Given the description of an element on the screen output the (x, y) to click on. 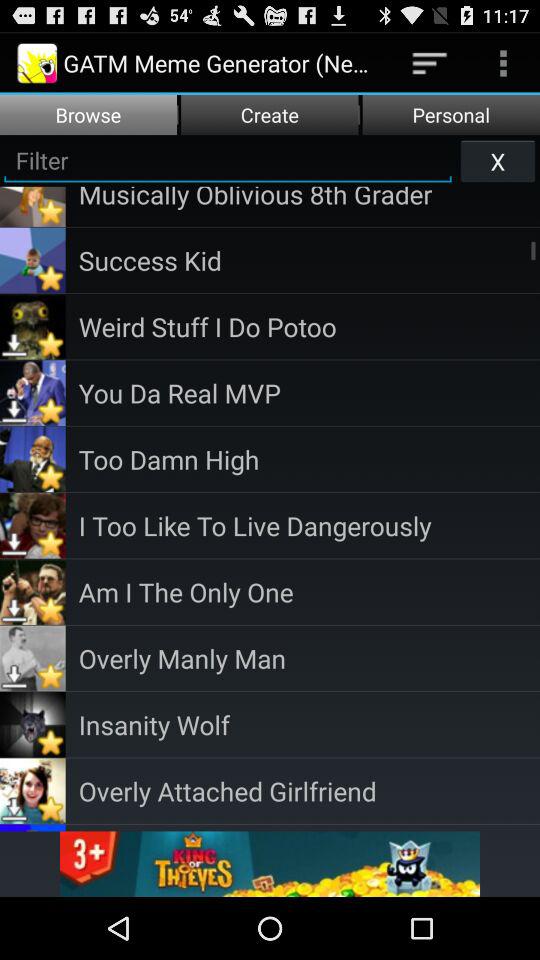
press app above personal icon (503, 62)
